Given the description of an element on the screen output the (x, y) to click on. 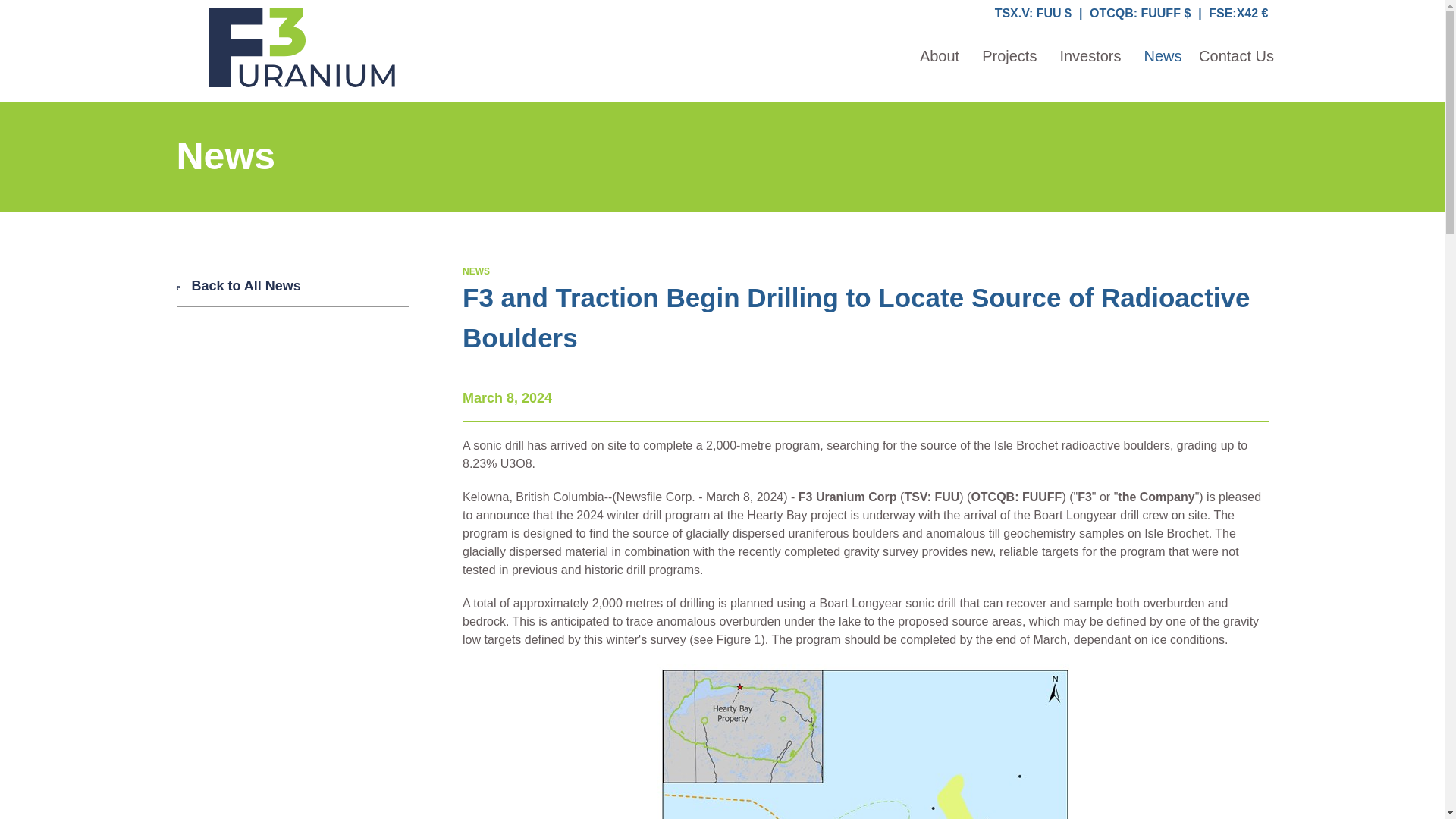
About (939, 70)
Contact Us (1236, 70)
Investors (1090, 70)
Back to All News (292, 285)
Projects (1009, 70)
News (1162, 70)
Back to Home Page (301, 46)
